Given the description of an element on the screen output the (x, y) to click on. 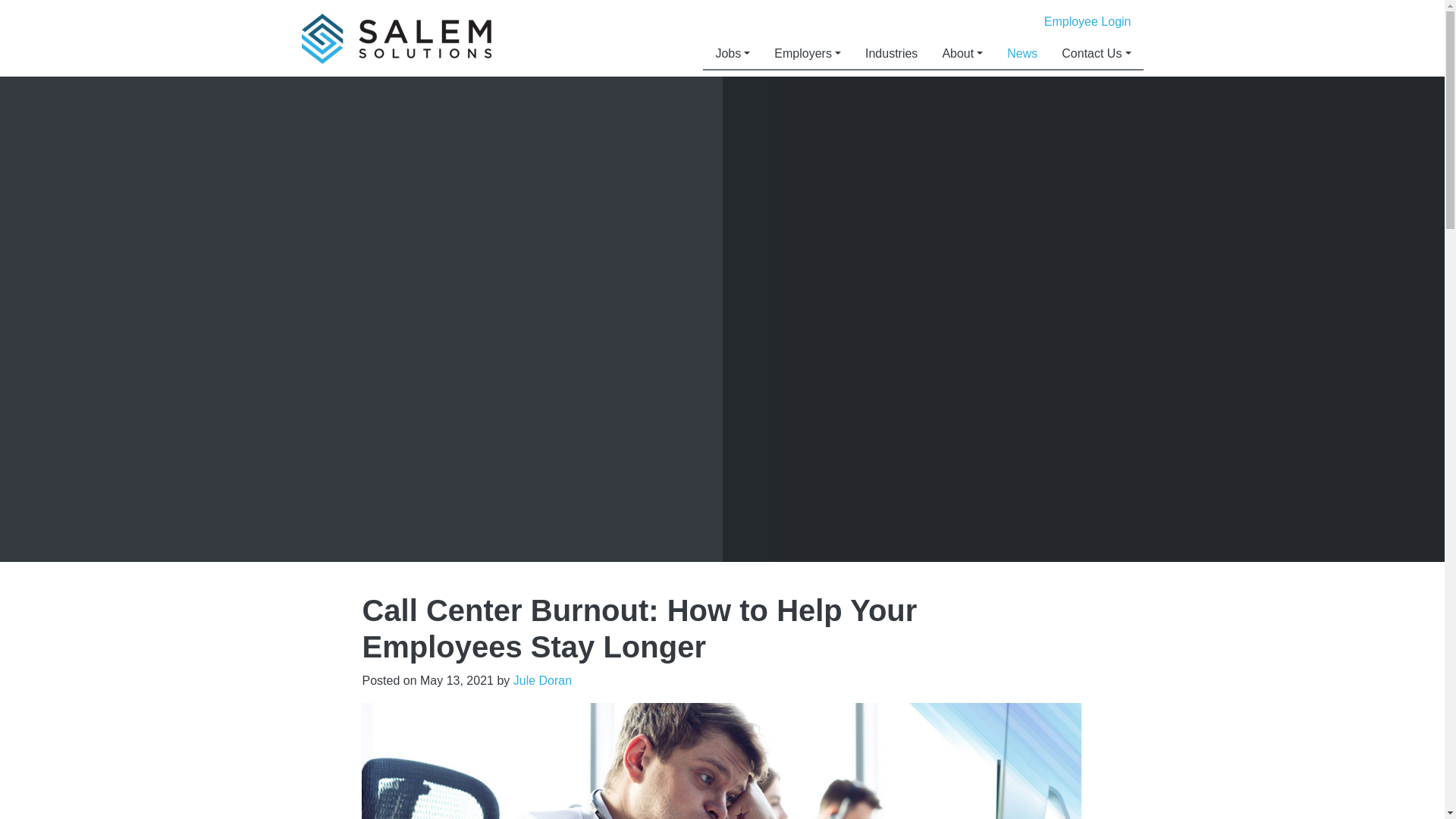
About (962, 53)
News (1021, 53)
News (1021, 53)
Industries (891, 53)
Employee Login (1087, 21)
Employers (807, 53)
Employers (807, 53)
About (962, 53)
Contact Us (1095, 53)
Jobs (732, 53)
